Given the description of an element on the screen output the (x, y) to click on. 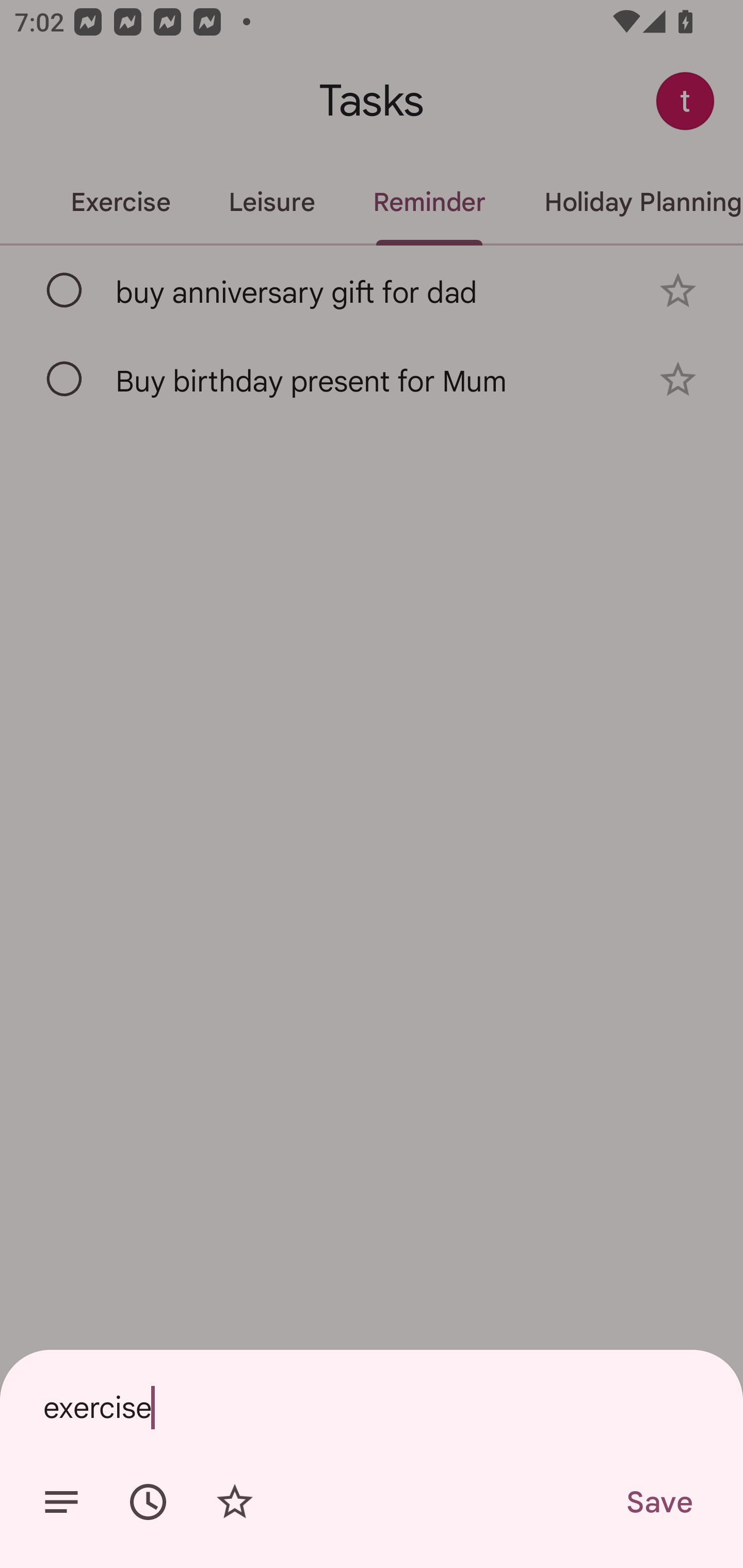
exercise (371, 1407)
Save (659, 1501)
Add details (60, 1501)
Set date/time (147, 1501)
Add star (234, 1501)
